Given the description of an element on the screen output the (x, y) to click on. 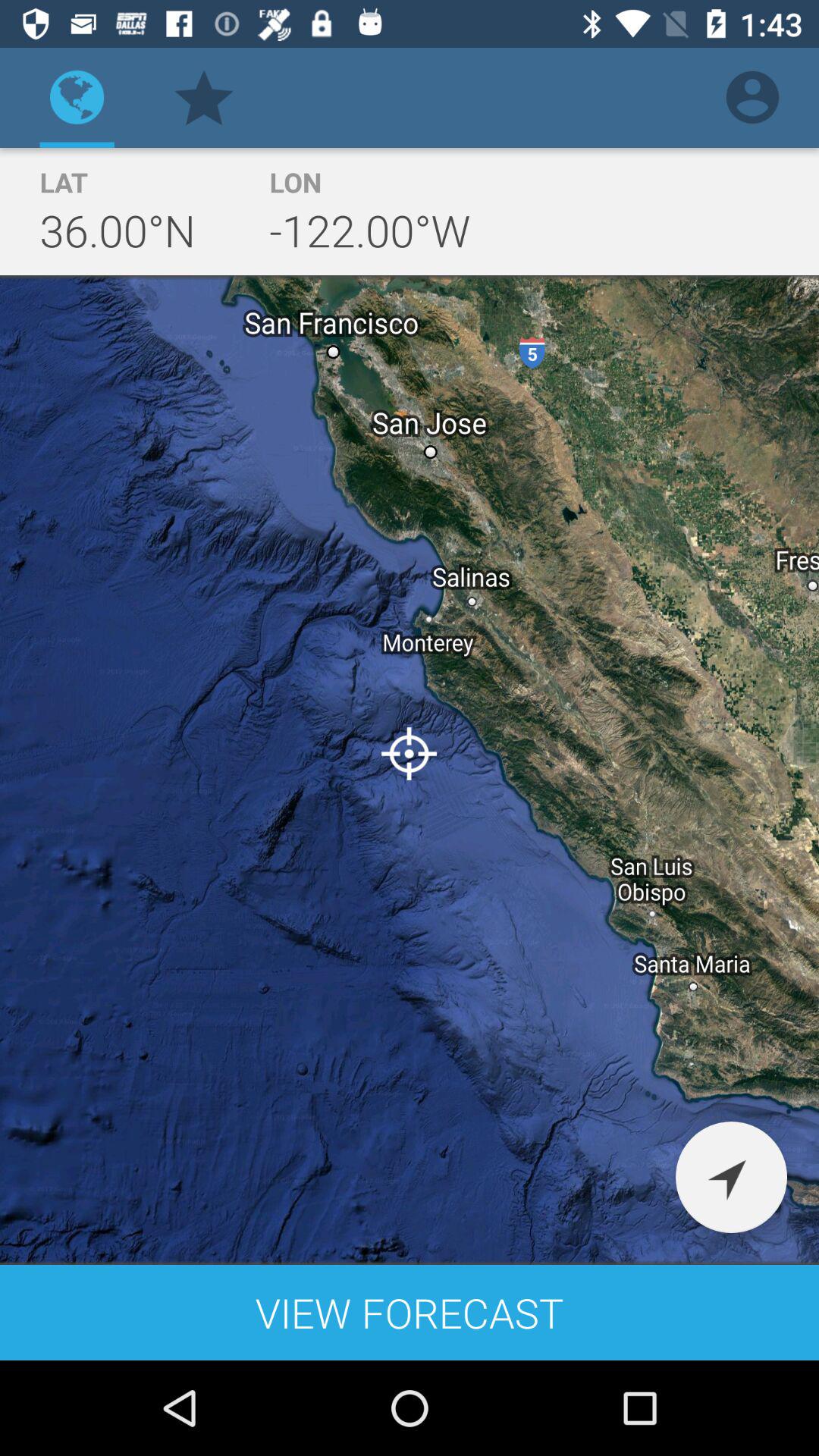
tap icon at the top right corner (752, 97)
